Given the description of an element on the screen output the (x, y) to click on. 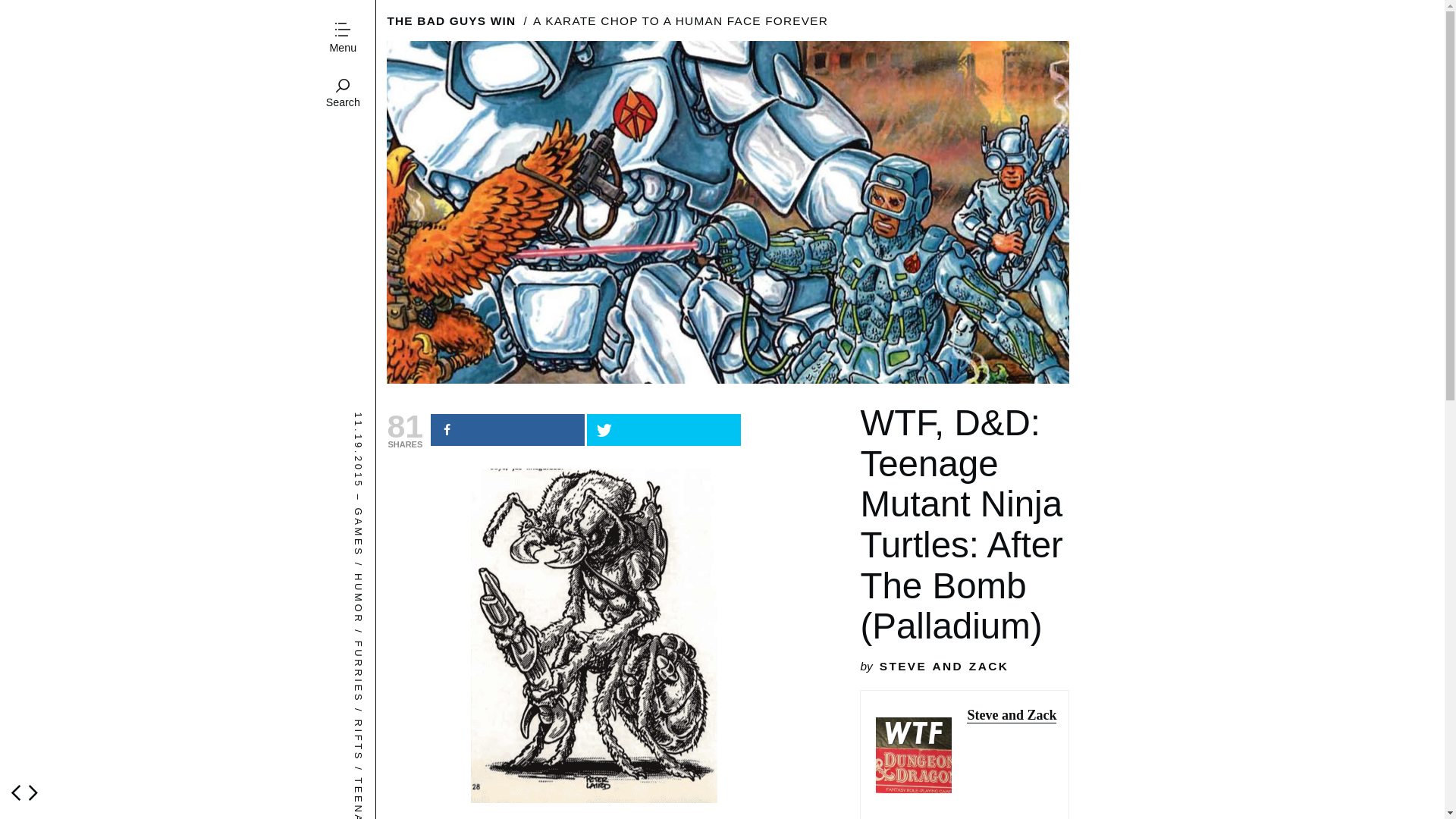
HUMOR (377, 578)
Older: The 24 Worst Star Trek Books Of All Time (33, 792)
Steve and Zack (1011, 715)
Toggle search (342, 94)
FURRIES (383, 645)
TEENAGE MUTANT NINJA TURTLES (474, 782)
Facebook (507, 429)
Twitter (663, 429)
Menu (342, 39)
RIFTS (373, 724)
STEVE AND ZACK (944, 666)
GAMES (376, 512)
THE BAD GUYS WIN (451, 20)
Toggle menu (342, 39)
Search (342, 94)
